Given the description of an element on the screen output the (x, y) to click on. 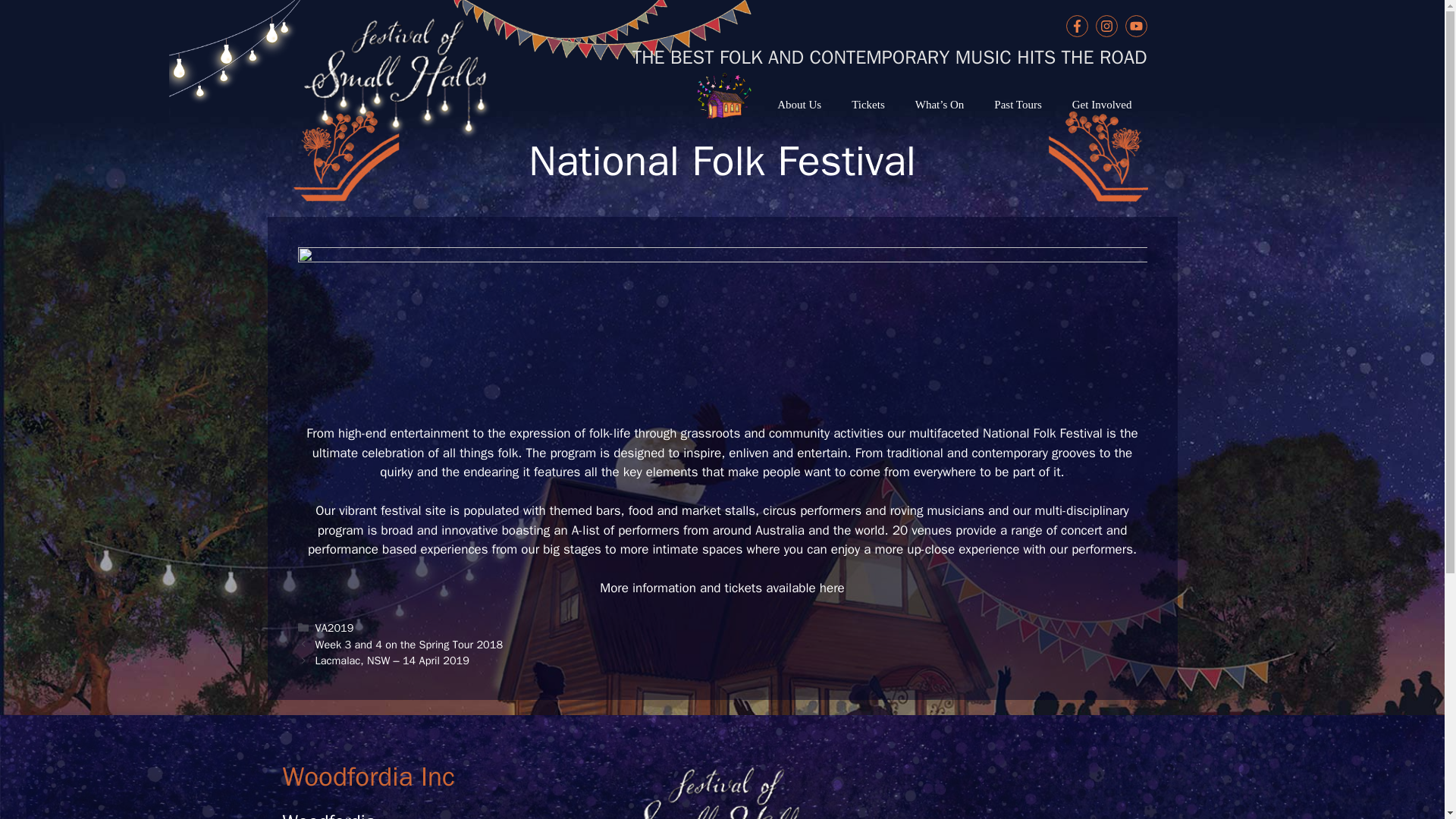
Get Involved (1102, 104)
Woodfordia (328, 814)
VA2019 (334, 627)
here (831, 587)
Week 3 and 4 on the Spring Tour 2018 (408, 643)
About Us (798, 104)
Tickets (867, 104)
Past Tours (1017, 104)
